Given the description of an element on the screen output the (x, y) to click on. 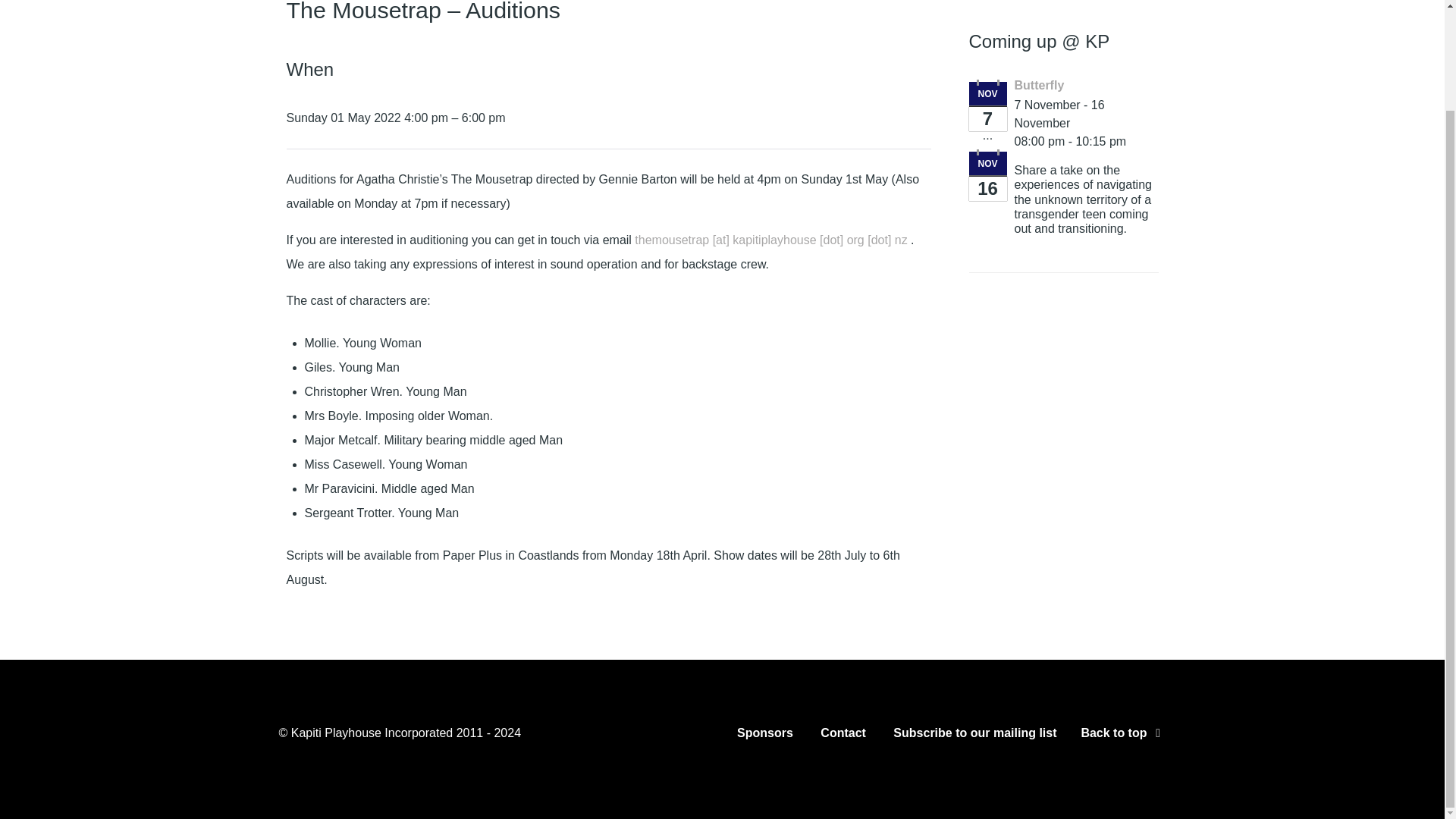
Butterfly (1039, 84)
Contact (843, 736)
Subscribe to our mailing list (975, 736)
Sponsors (764, 736)
Sponsors (764, 736)
Contact (843, 736)
Back to top (1123, 732)
Subscribe to our mailing list (975, 736)
